Given the description of an element on the screen output the (x, y) to click on. 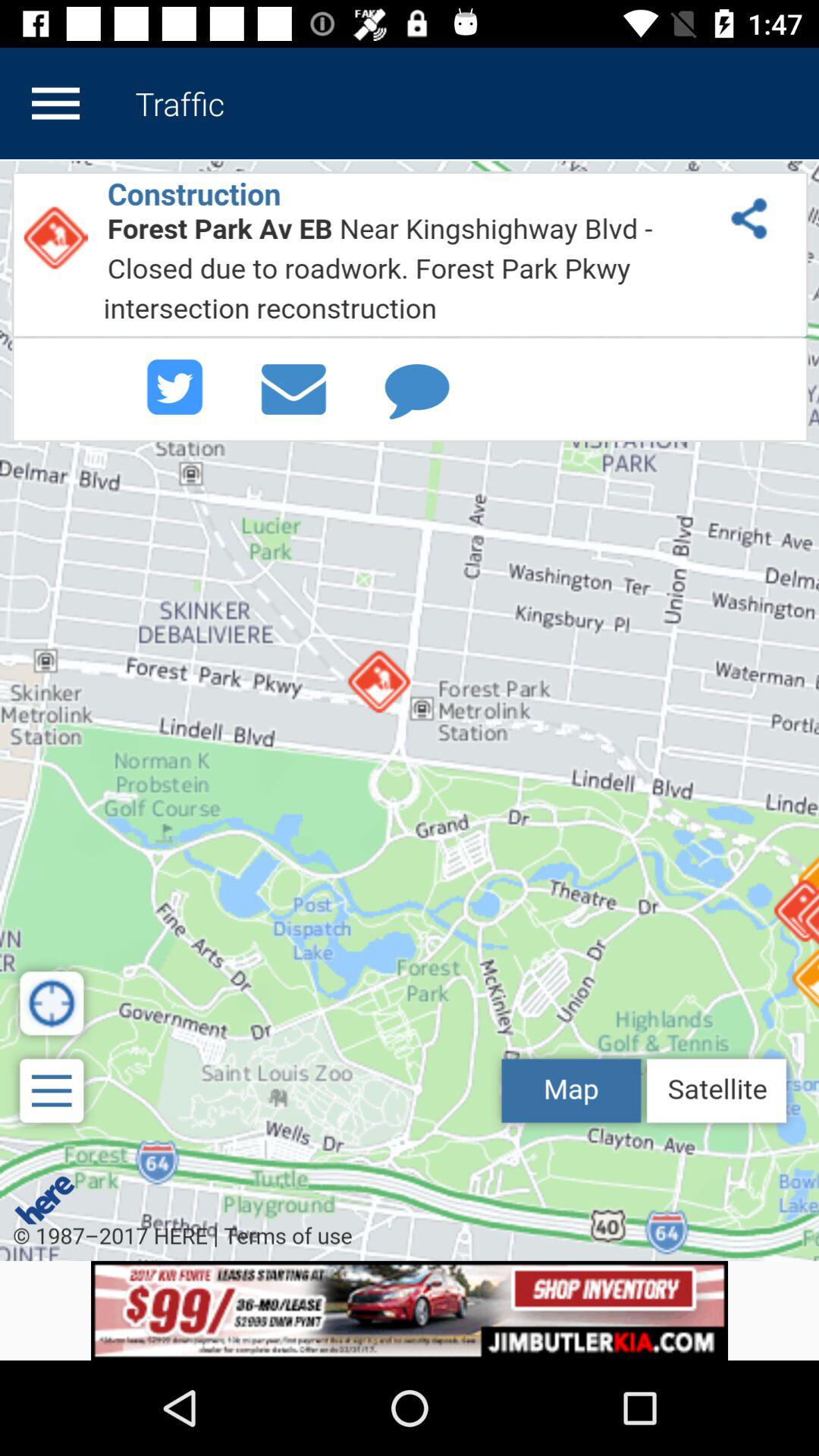
display advertisement (409, 1310)
